Given the description of an element on the screen output the (x, y) to click on. 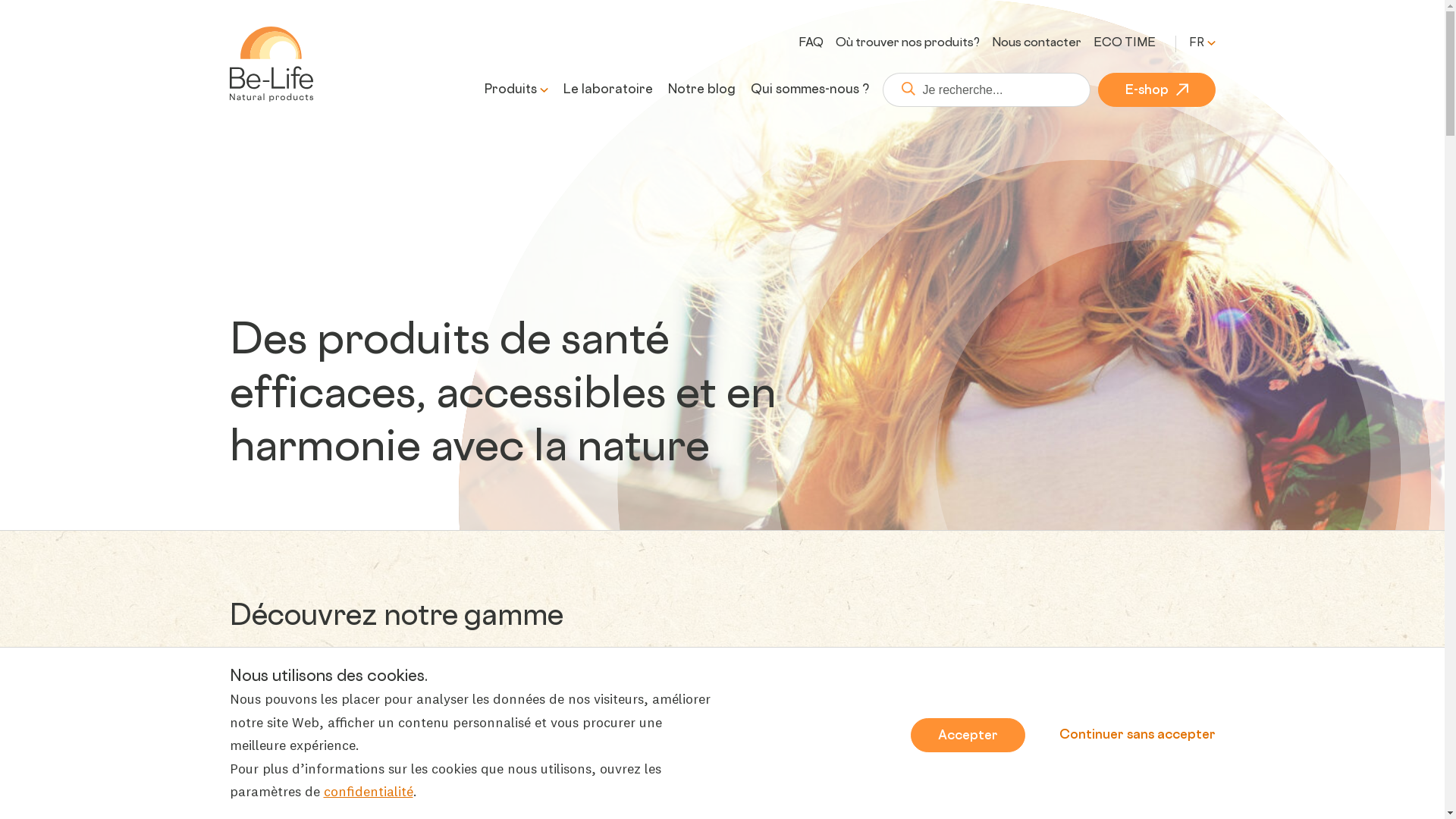
FR Element type: text (1202, 43)
E-shop Element type: text (1156, 89)
Continuer sans accepter Element type: text (1136, 734)
Nous contacter Element type: text (1036, 43)
Notre blog Element type: text (700, 90)
Be-Life Element type: text (270, 64)
Le laboratoire Element type: text (607, 90)
ECO TIME Element type: text (1124, 43)
FAQ Element type: text (809, 43)
Produits Element type: text (509, 90)
Qui sommes-nous ? Element type: text (809, 90)
Lancer la recherche Element type: text (901, 89)
Accepter Element type: text (967, 735)
